Given the description of an element on the screen output the (x, y) to click on. 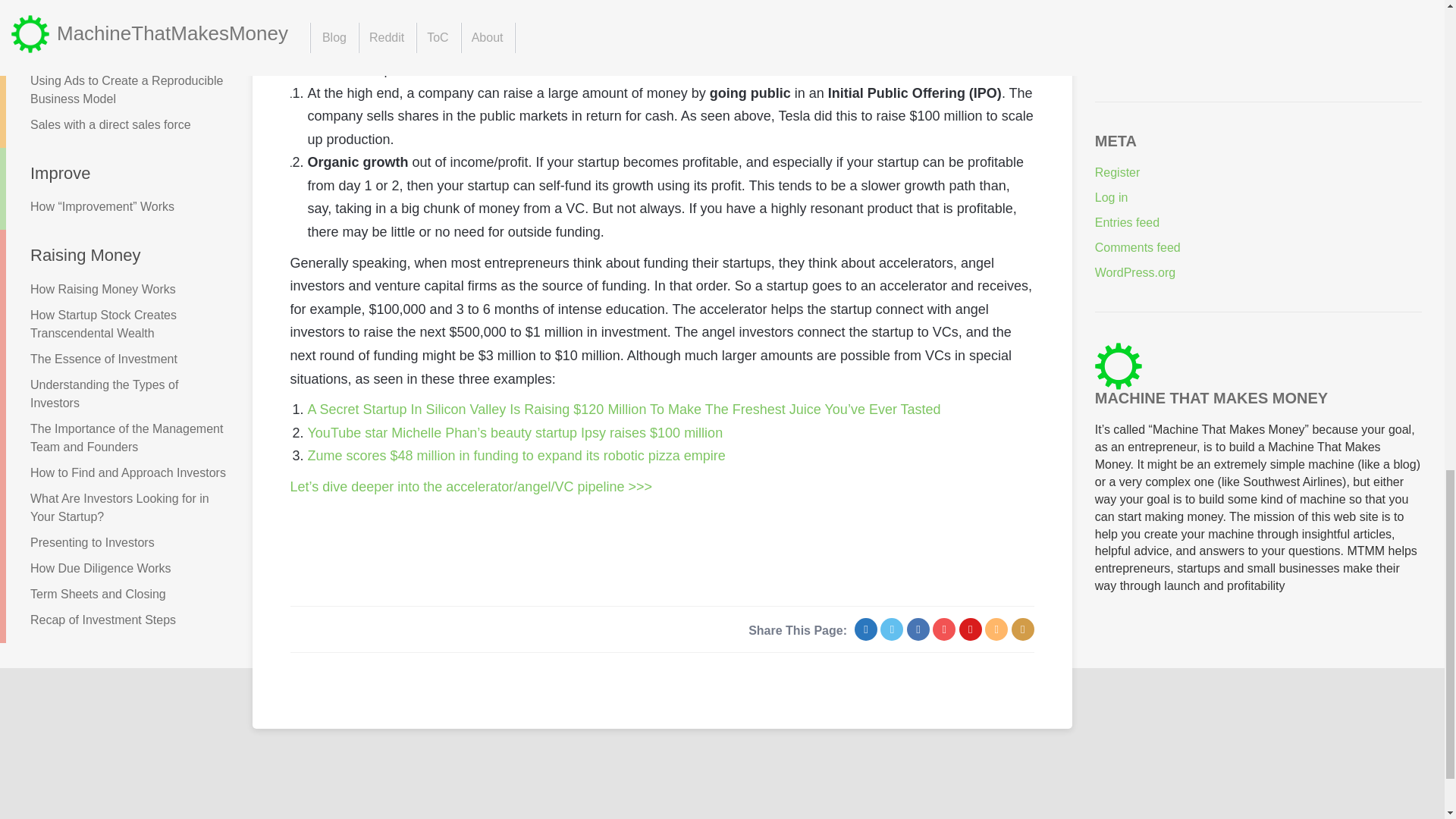
Sales with a direct sales force (116, 125)
Using Ads to Create a Reproducible Business Model (116, 89)
How Raising Money Works (116, 289)
